Given the description of an element on the screen output the (x, y) to click on. 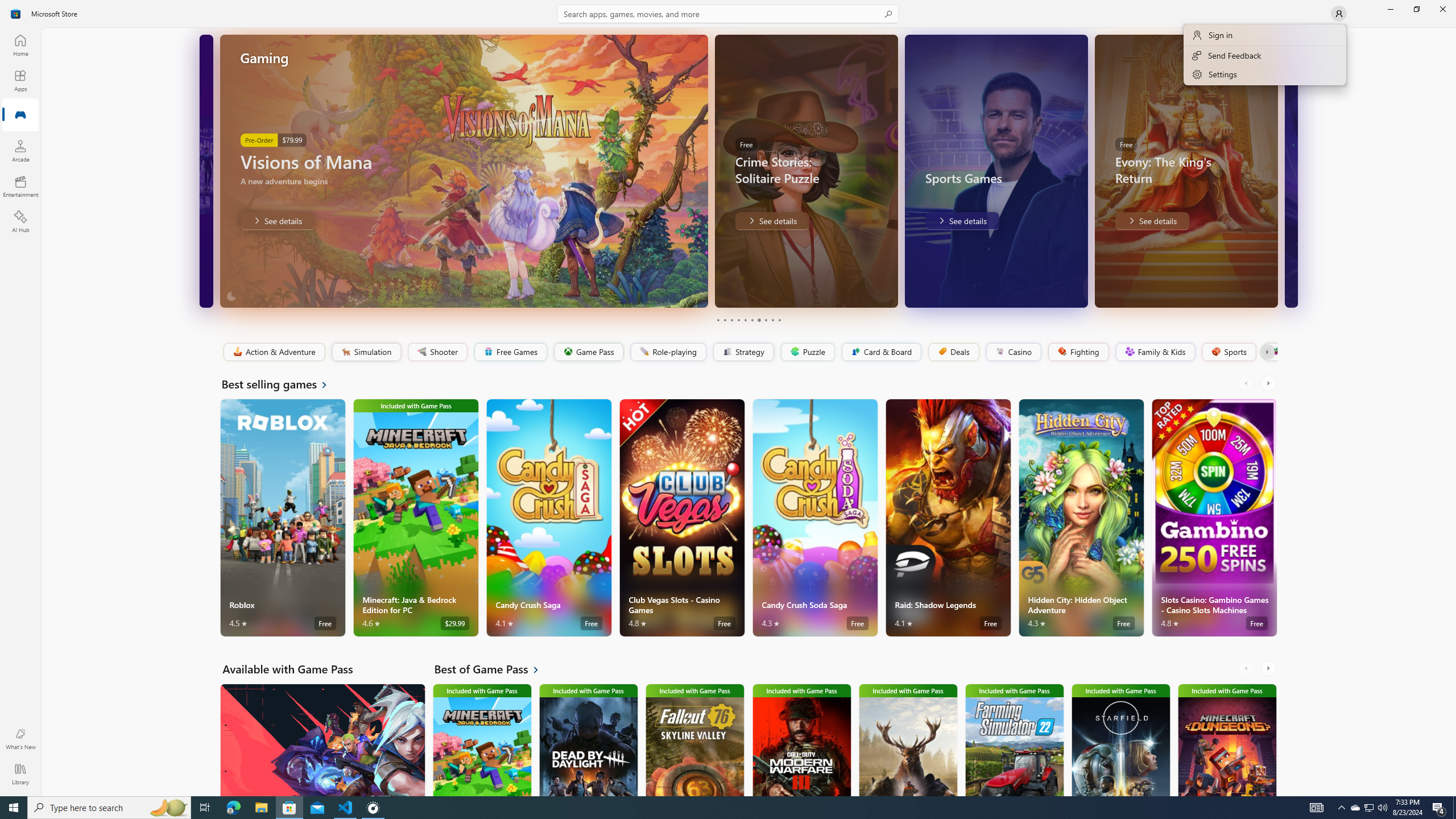
Game Pass (588, 352)
Unmute (1261, 291)
Page 9 (772, 319)
AutomationID: RightScrollButton (1269, 668)
